Given the description of an element on the screen output the (x, y) to click on. 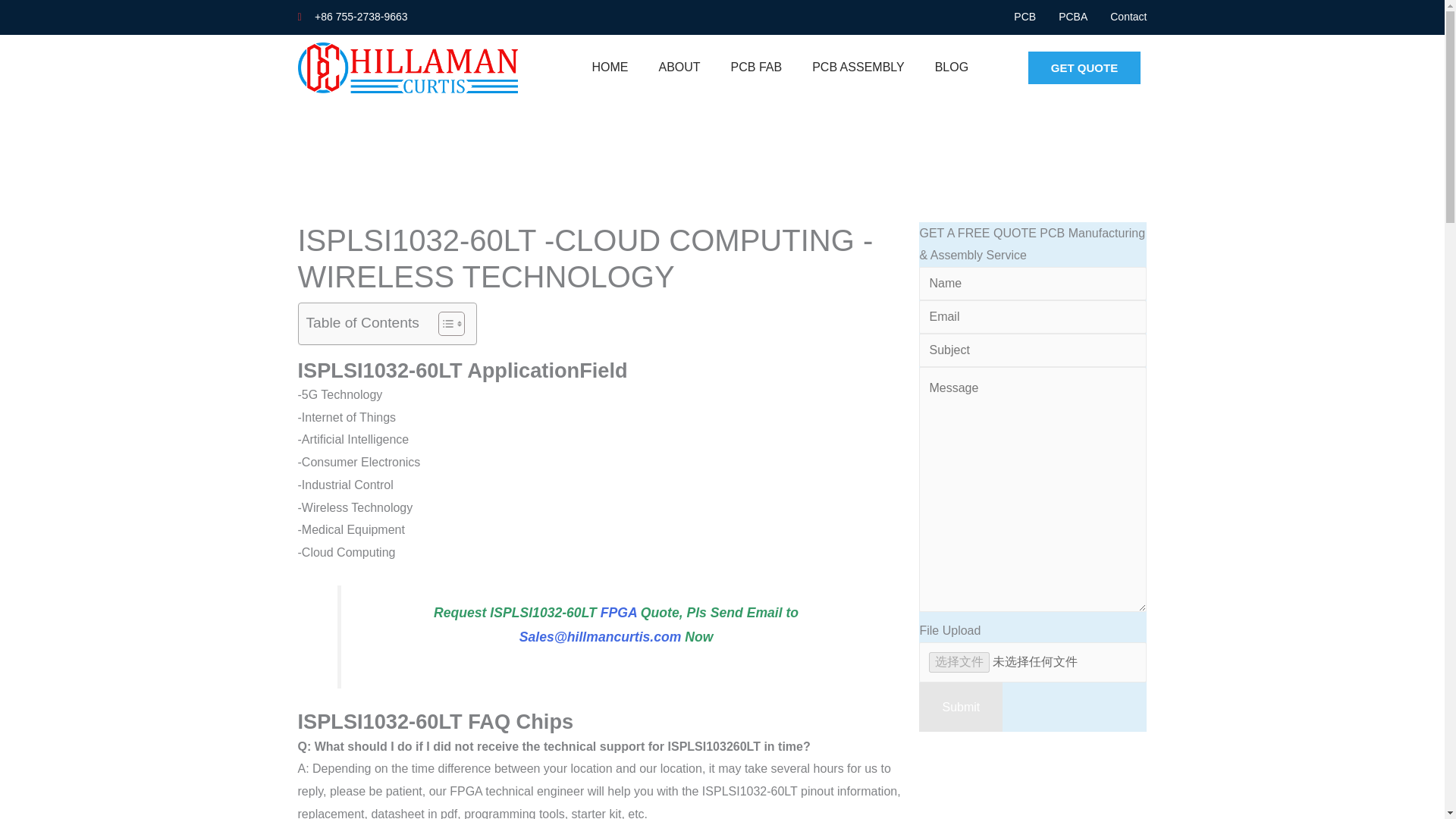
PCB FAB (756, 67)
PCB ASSEMBLY (858, 67)
PCBA (1072, 17)
GET QUOTE (1083, 67)
Submit (960, 707)
Contact (1128, 17)
Submit (960, 707)
PCB (1024, 17)
ABOUT (678, 67)
BLOG (952, 67)
FPGA (618, 612)
HOME (609, 67)
